Given the description of an element on the screen output the (x, y) to click on. 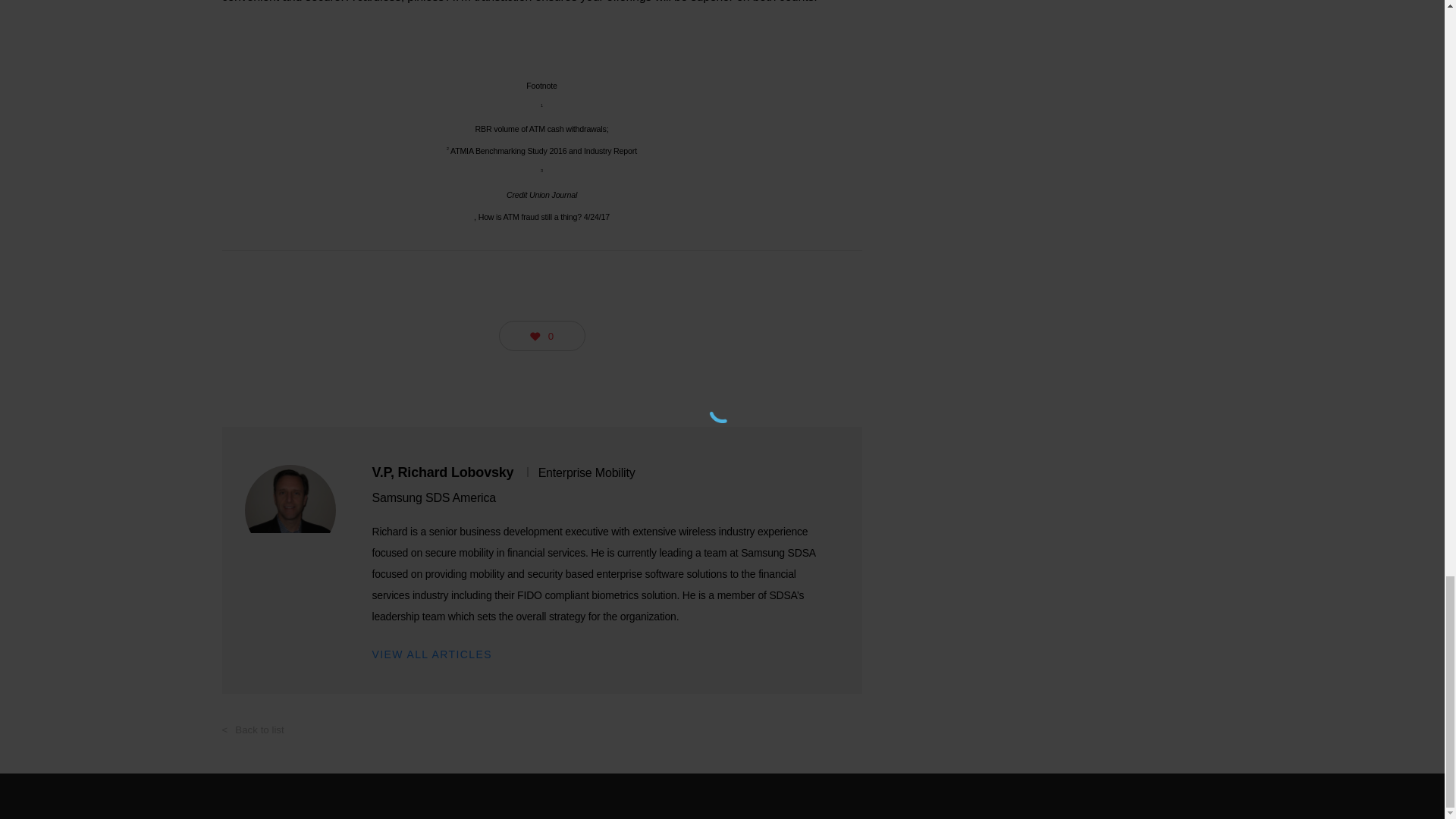
0 (542, 336)
VIEW ALL ARTICLES (431, 654)
